Given the description of an element on the screen output the (x, y) to click on. 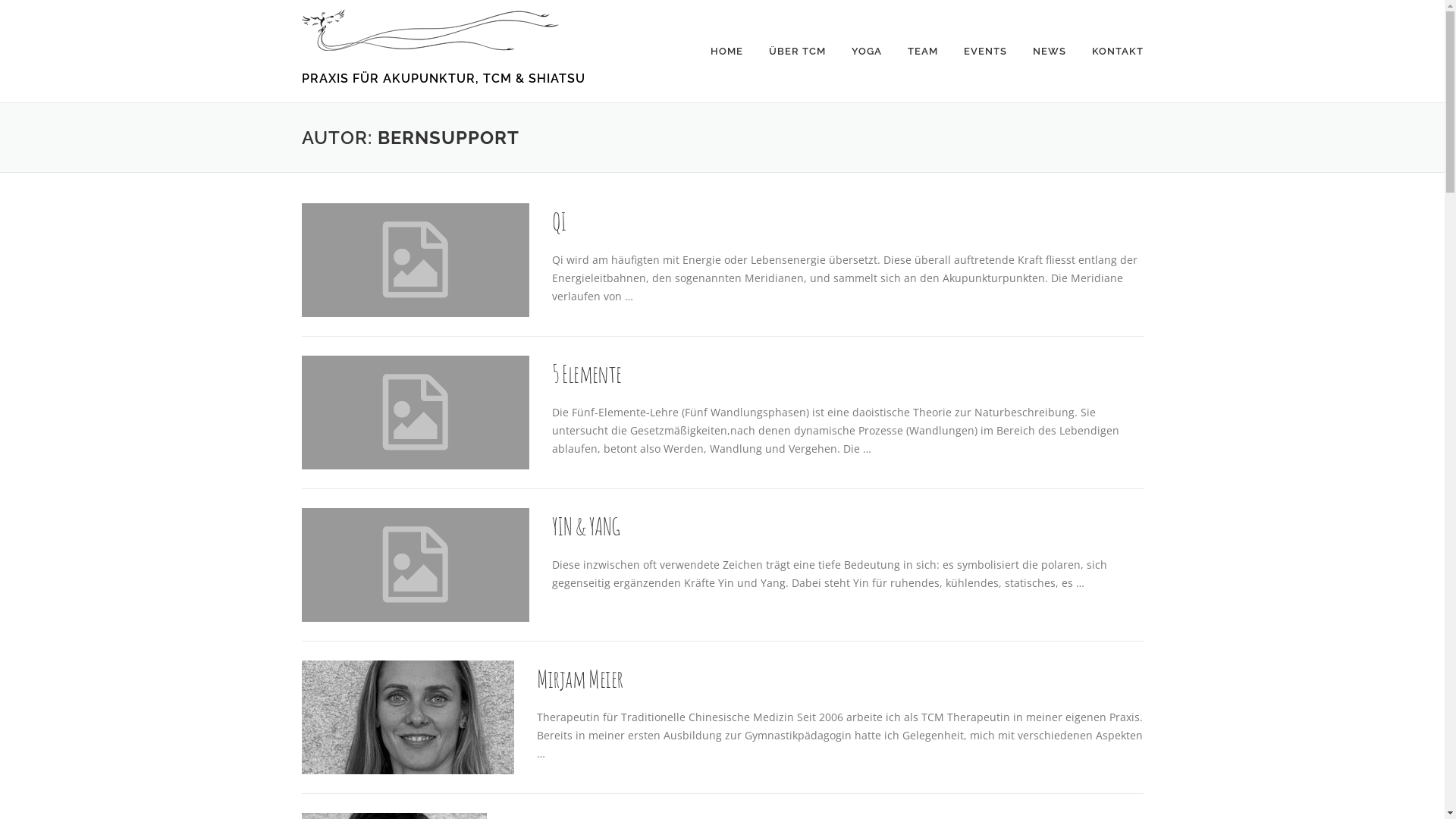
EVENTS Element type: text (984, 51)
TEAM Element type: text (922, 51)
Mirjam Meier Element type: text (579, 677)
KONTAKT Element type: text (1110, 51)
QI Element type: text (559, 220)
NEWS Element type: text (1048, 51)
5 Elemente Element type: text (586, 373)
HOME Element type: text (726, 51)
YOGA Element type: text (866, 51)
YIN & YANG Element type: text (586, 525)
